Given the description of an element on the screen output the (x, y) to click on. 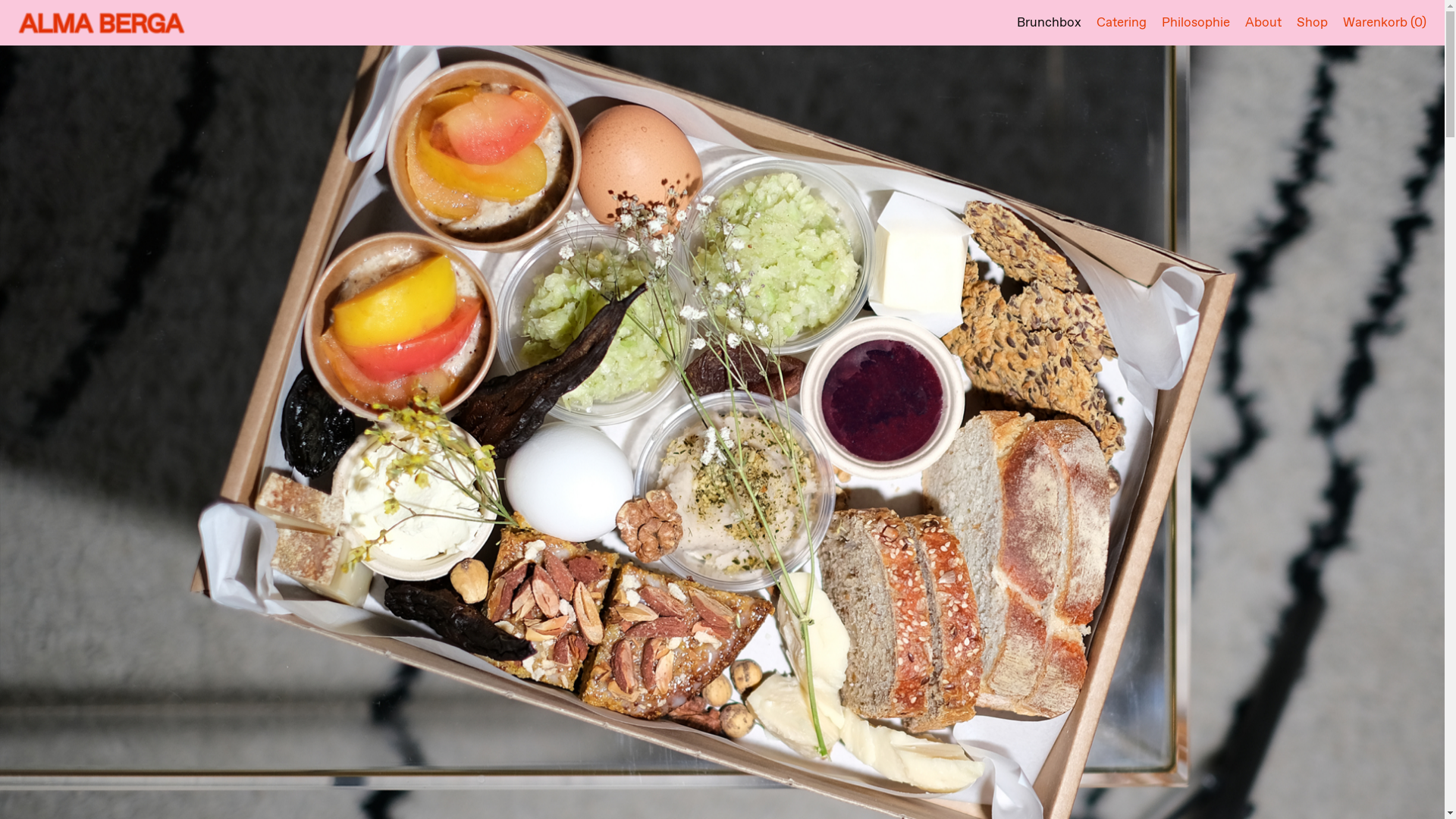
Warenkorb (0) Element type: text (1384, 22)
Catering Element type: text (1121, 22)
Brunchbox Element type: text (1048, 22)
Philosophie Element type: text (1195, 22)
Shop Element type: text (1311, 22)
About Element type: text (1263, 22)
